Given the description of an element on the screen output the (x, y) to click on. 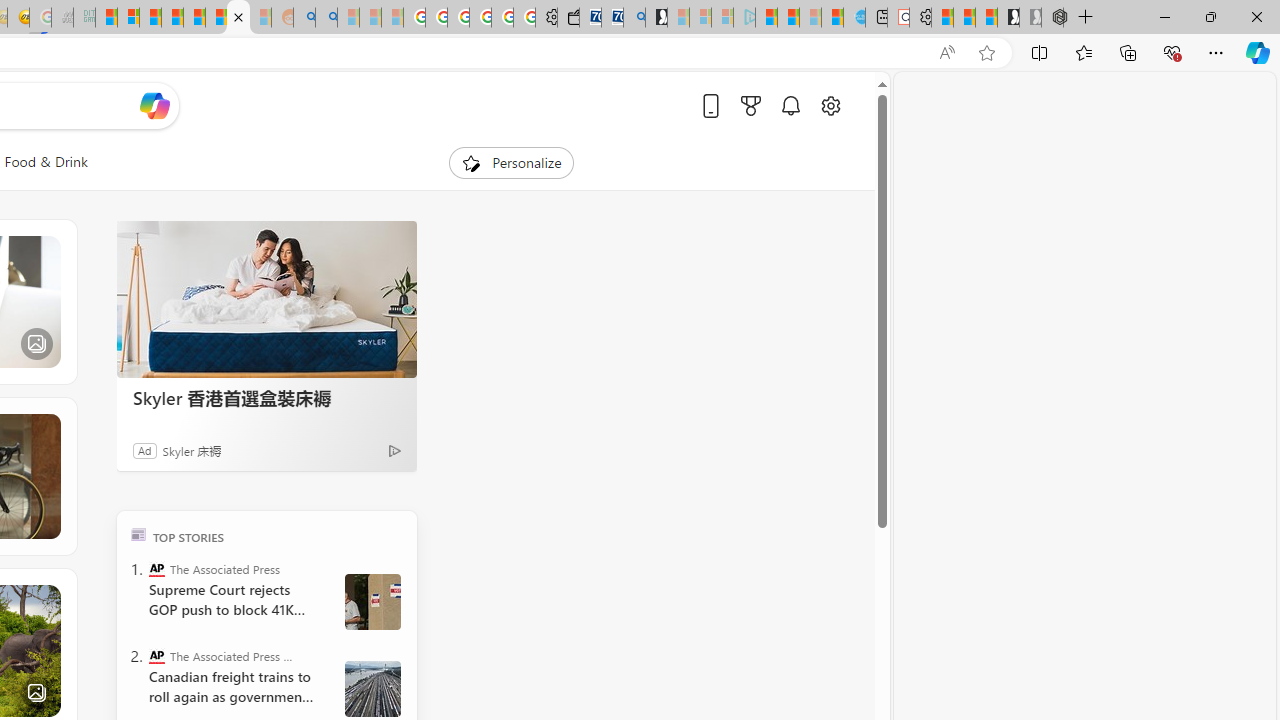
Utah sues federal government - Search (326, 17)
The Associated Press - Business News (156, 655)
Microsoft Start Gaming (656, 17)
Cheap Car Rentals - Save70.com (612, 17)
Kinda Frugal - MSN (238, 17)
Microsoft rewards (749, 105)
